Given the description of an element on the screen output the (x, y) to click on. 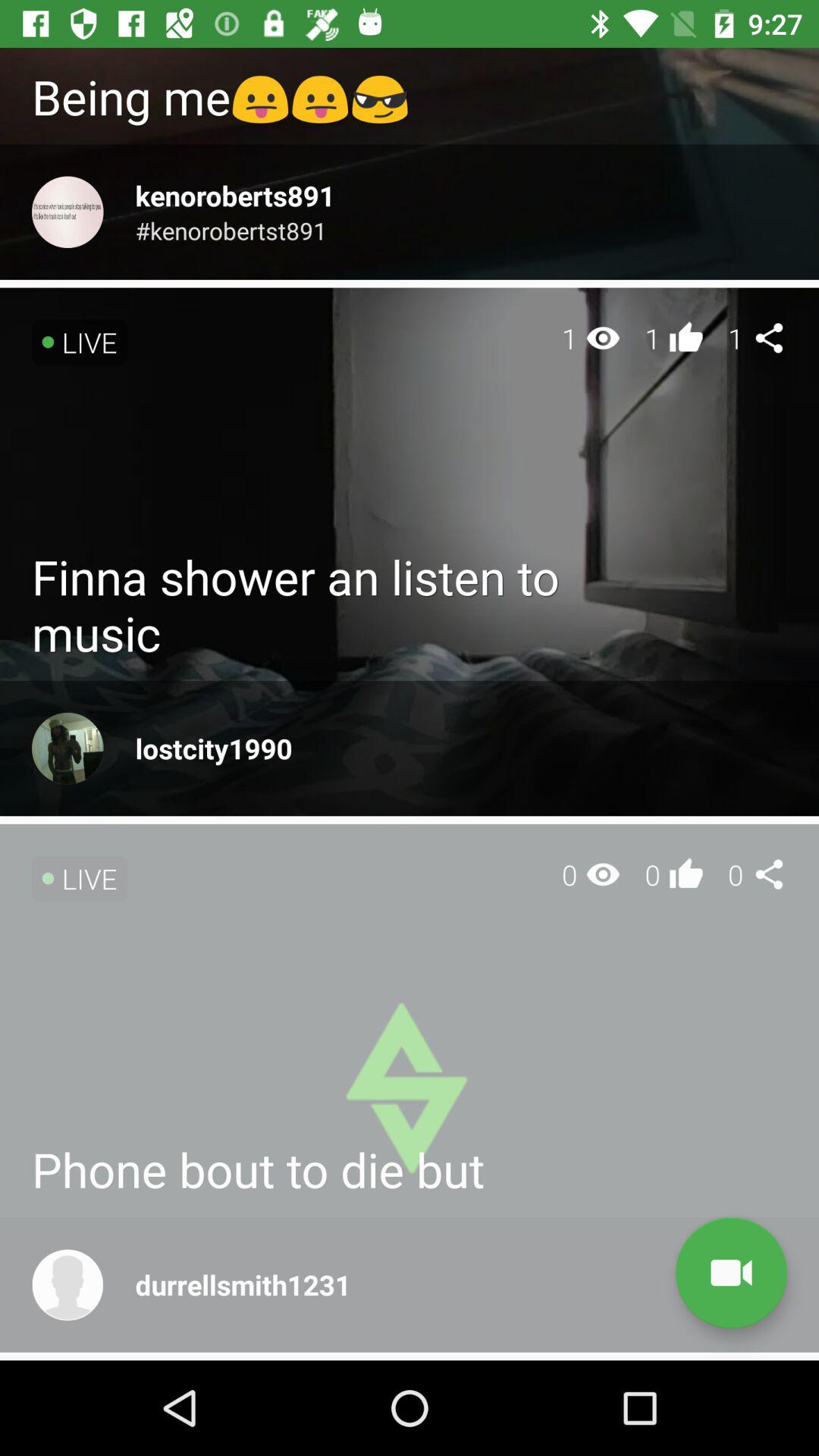
select item at the bottom right corner (731, 1272)
